Given the description of an element on the screen output the (x, y) to click on. 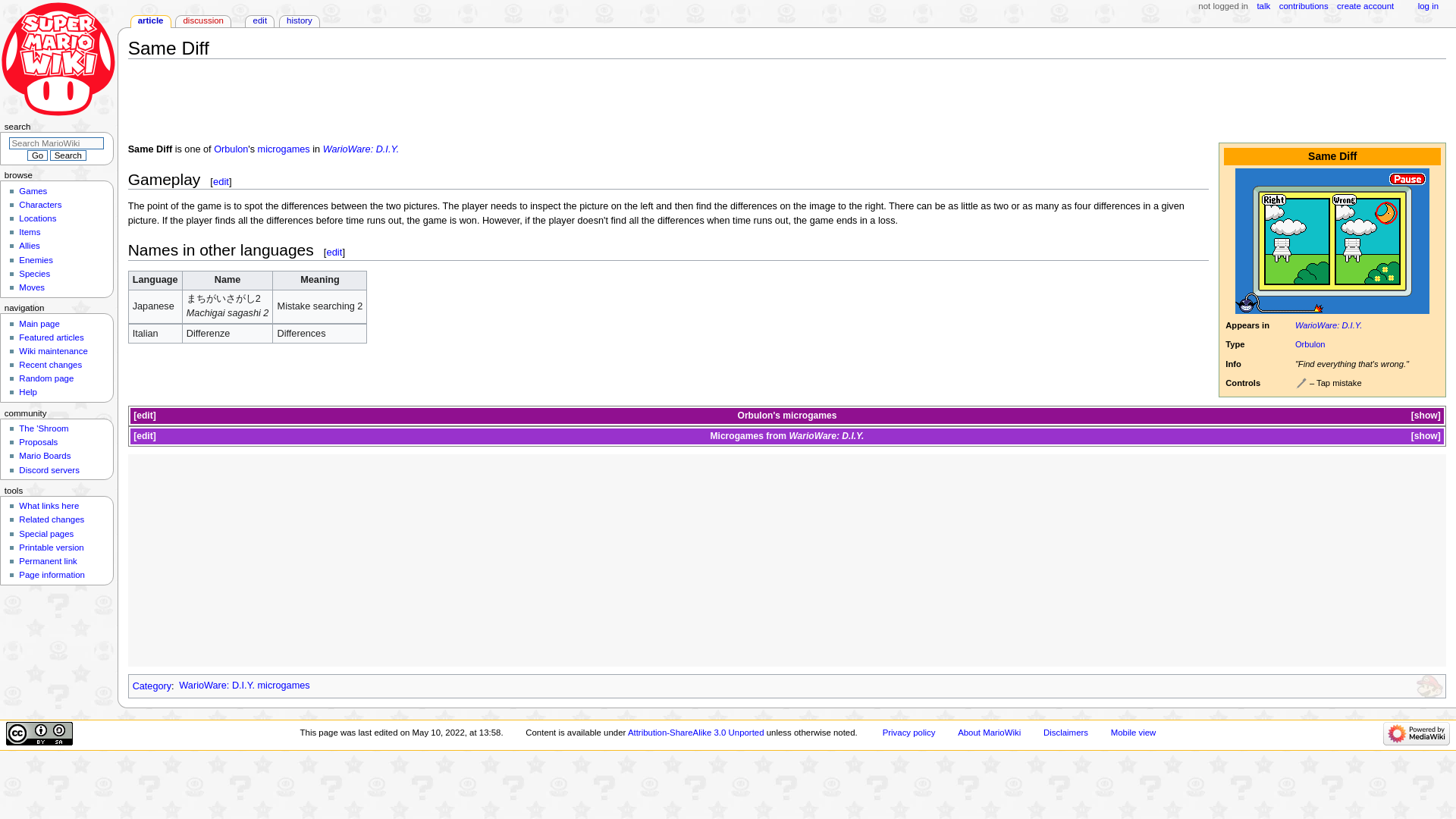
WarioWare: D.I.Y. (1328, 325)
Microgame (809, 415)
Orbulon (230, 149)
Orbulon (230, 149)
show (1425, 415)
WarioWare: D.I.Y. (360, 149)
Go (36, 154)
Orbulon (1309, 343)
WarioWare: D.I.Y. (1328, 325)
microgames (809, 415)
Stylus (1301, 383)
Microgame (283, 149)
WarioWare: D.I.Y. (360, 149)
edit (144, 415)
